Given the description of an element on the screen output the (x, y) to click on. 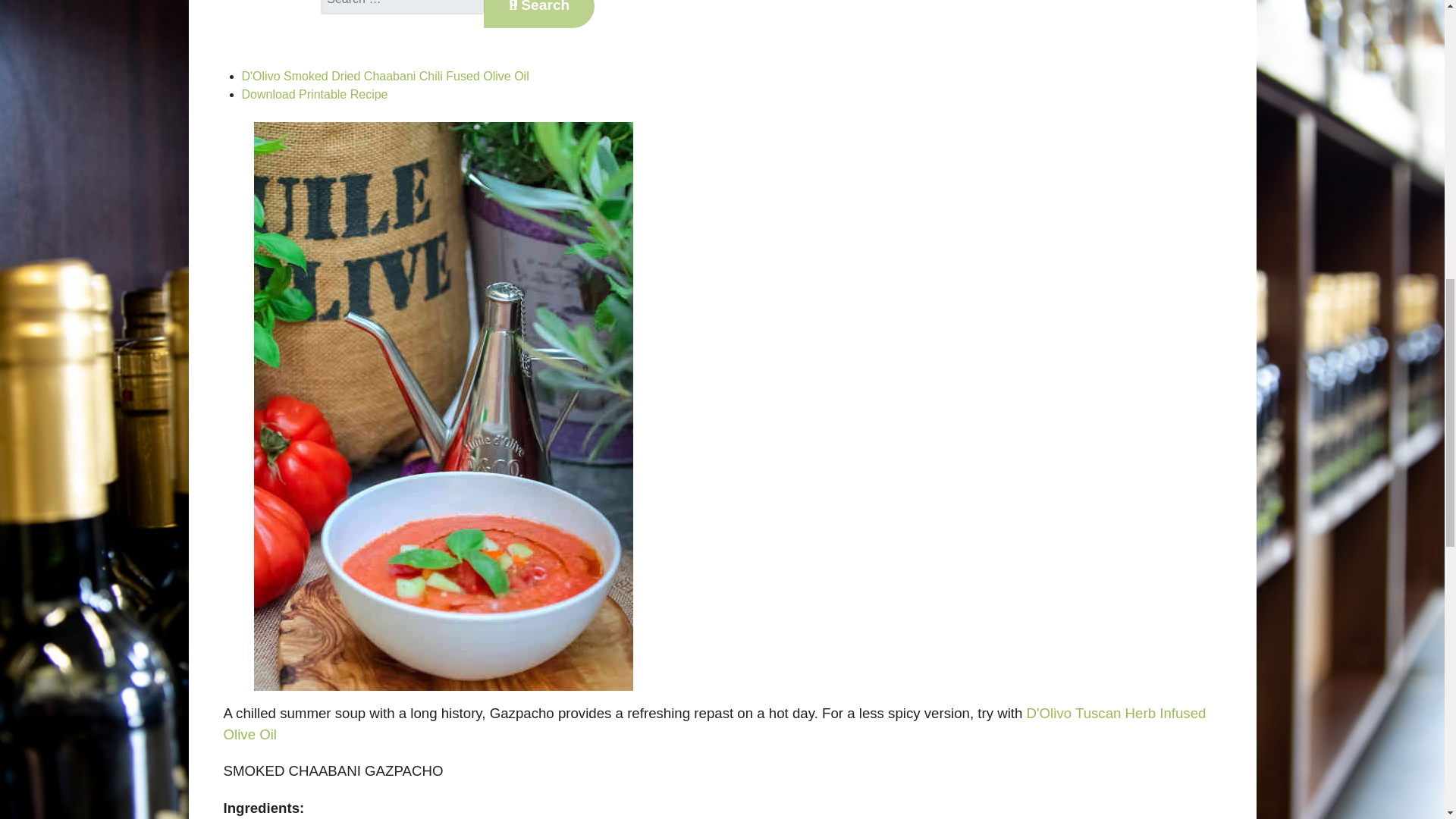
D'Olivo Smoked Dried Chaabani Chili Fused Olive Oil (384, 75)
Download Printable Recipe (314, 93)
Search (538, 13)
